Given the description of an element on the screen output the (x, y) to click on. 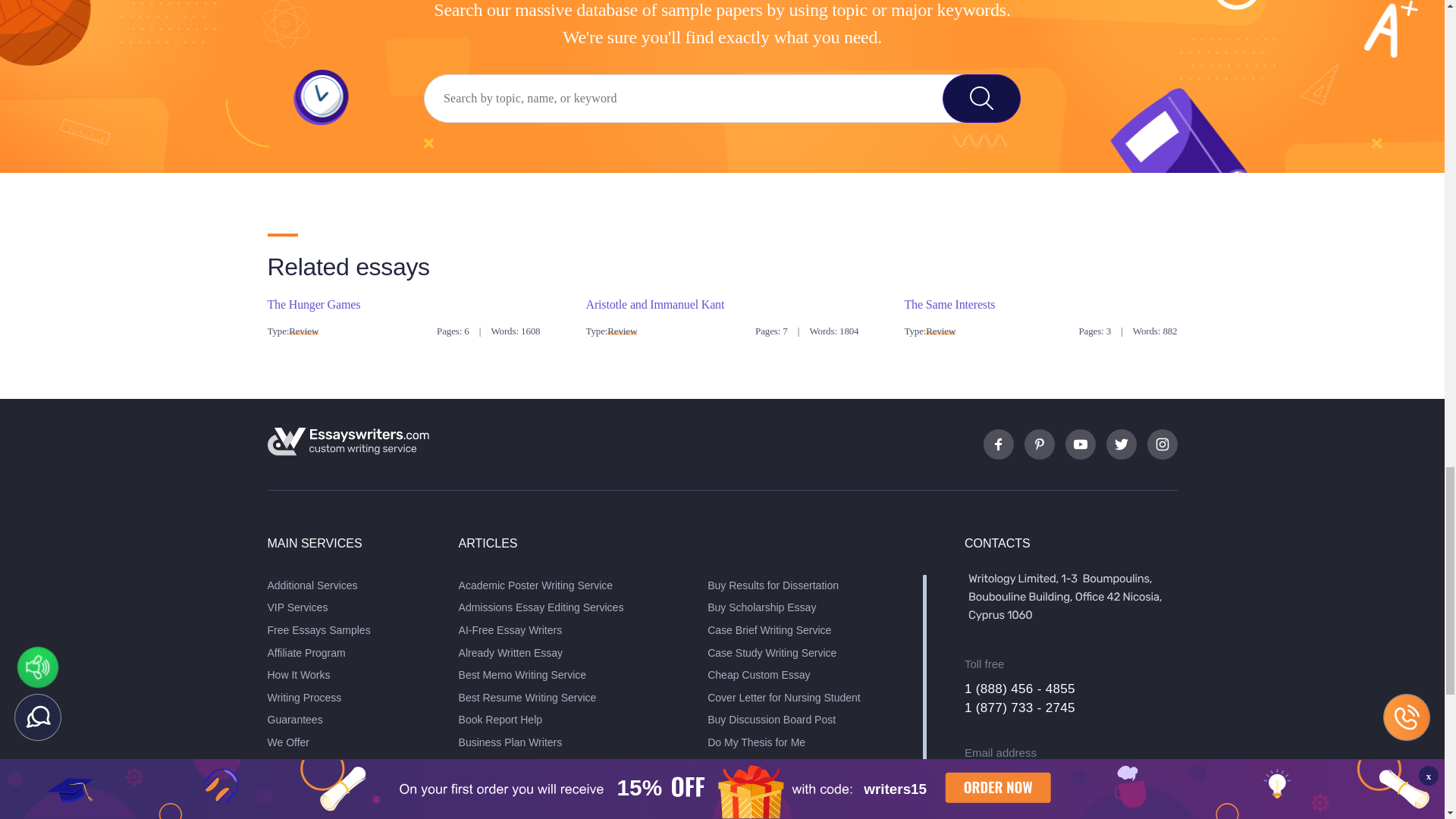
Read more (949, 303)
Read more (312, 303)
Read more (654, 303)
